Given the description of an element on the screen output the (x, y) to click on. 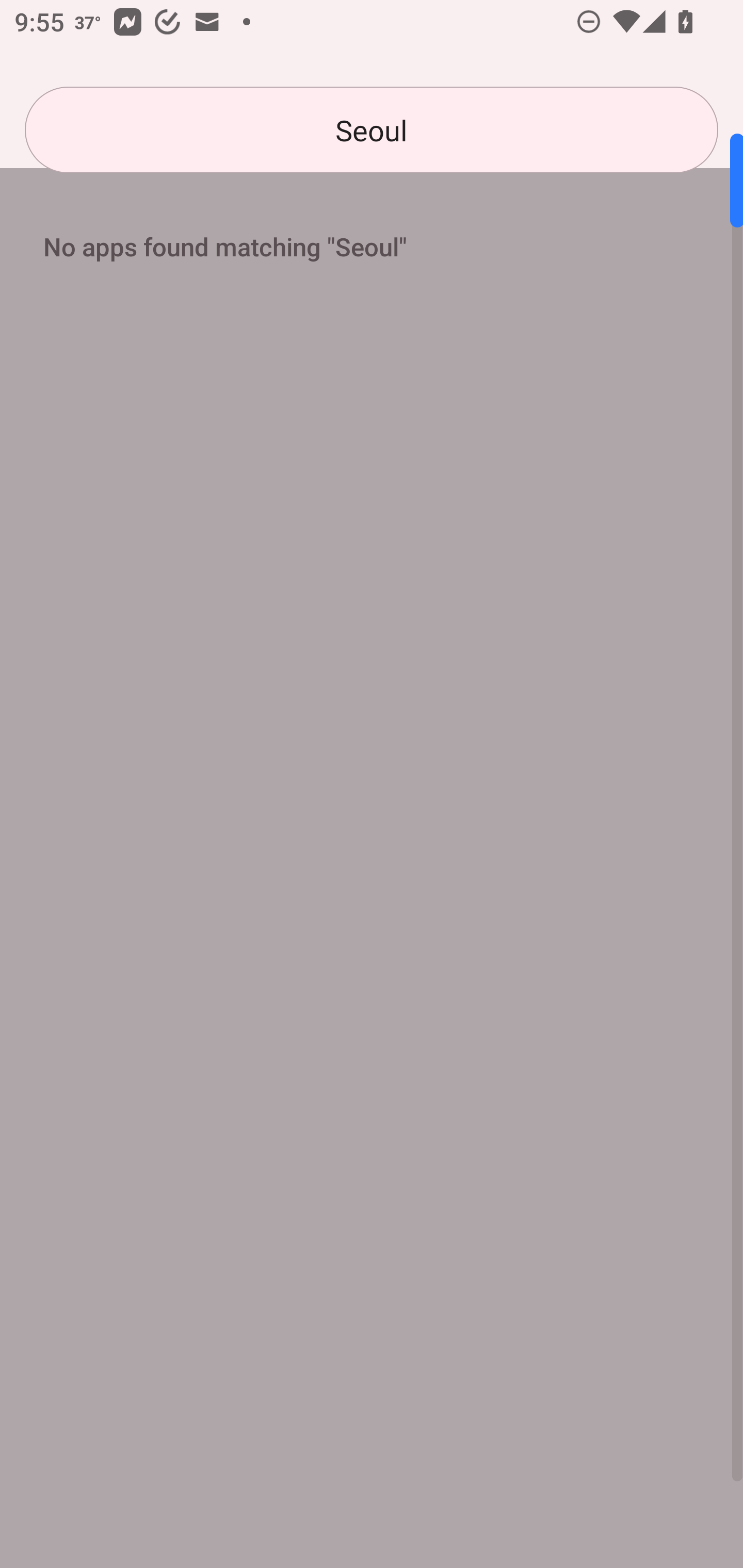
Seoul (371, 130)
